Given the description of an element on the screen output the (x, y) to click on. 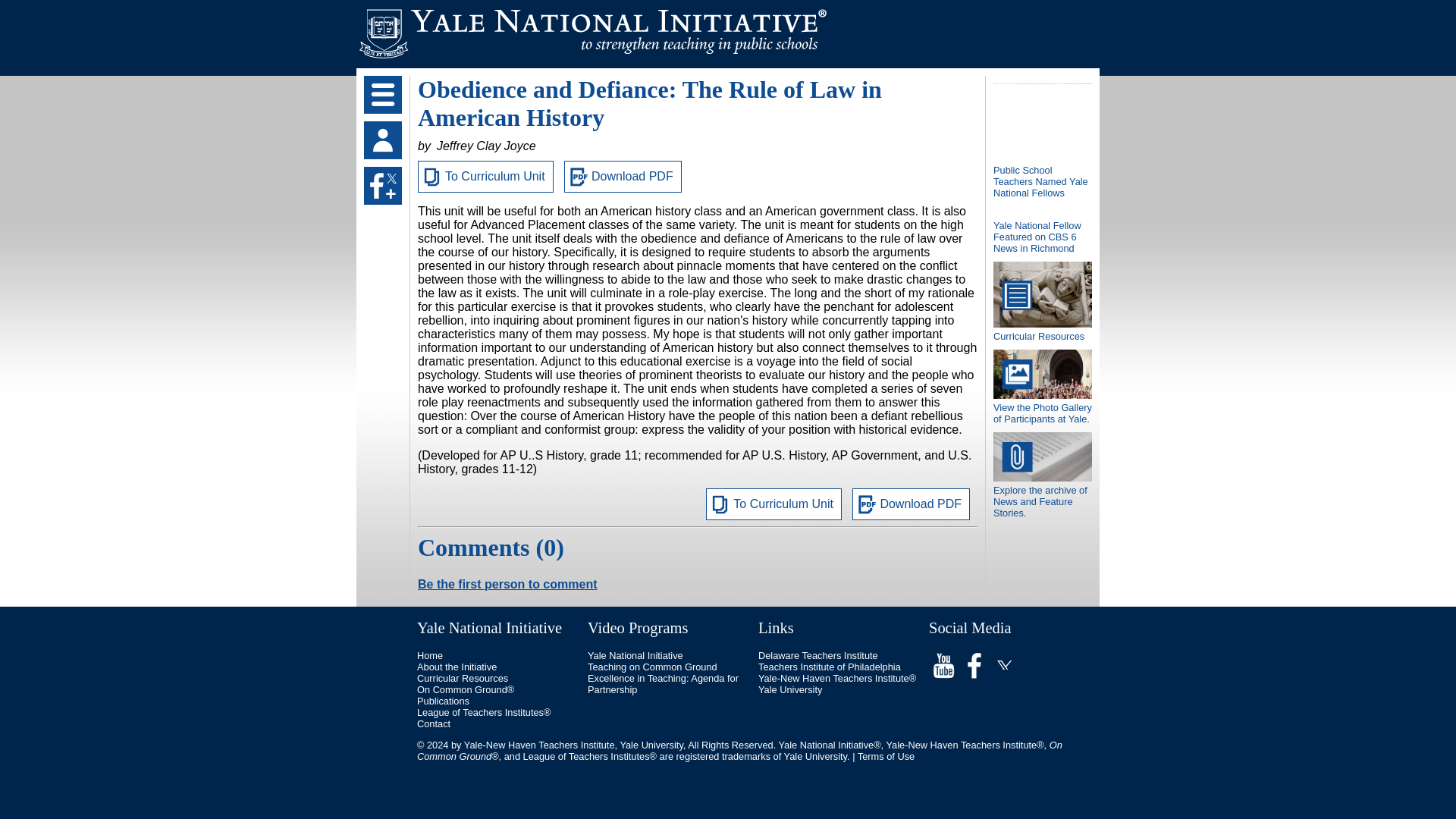
Public School Teachers Named Yale National Fellows (1042, 175)
Download PDF (910, 504)
To Curriculum Unit (485, 176)
Yale National Fellow Featured on CBS 6 News in Richmond (1042, 243)
Be the first person to comment (506, 584)
Download PDF (622, 176)
To Curriculum Unit (773, 504)
